Given the description of an element on the screen output the (x, y) to click on. 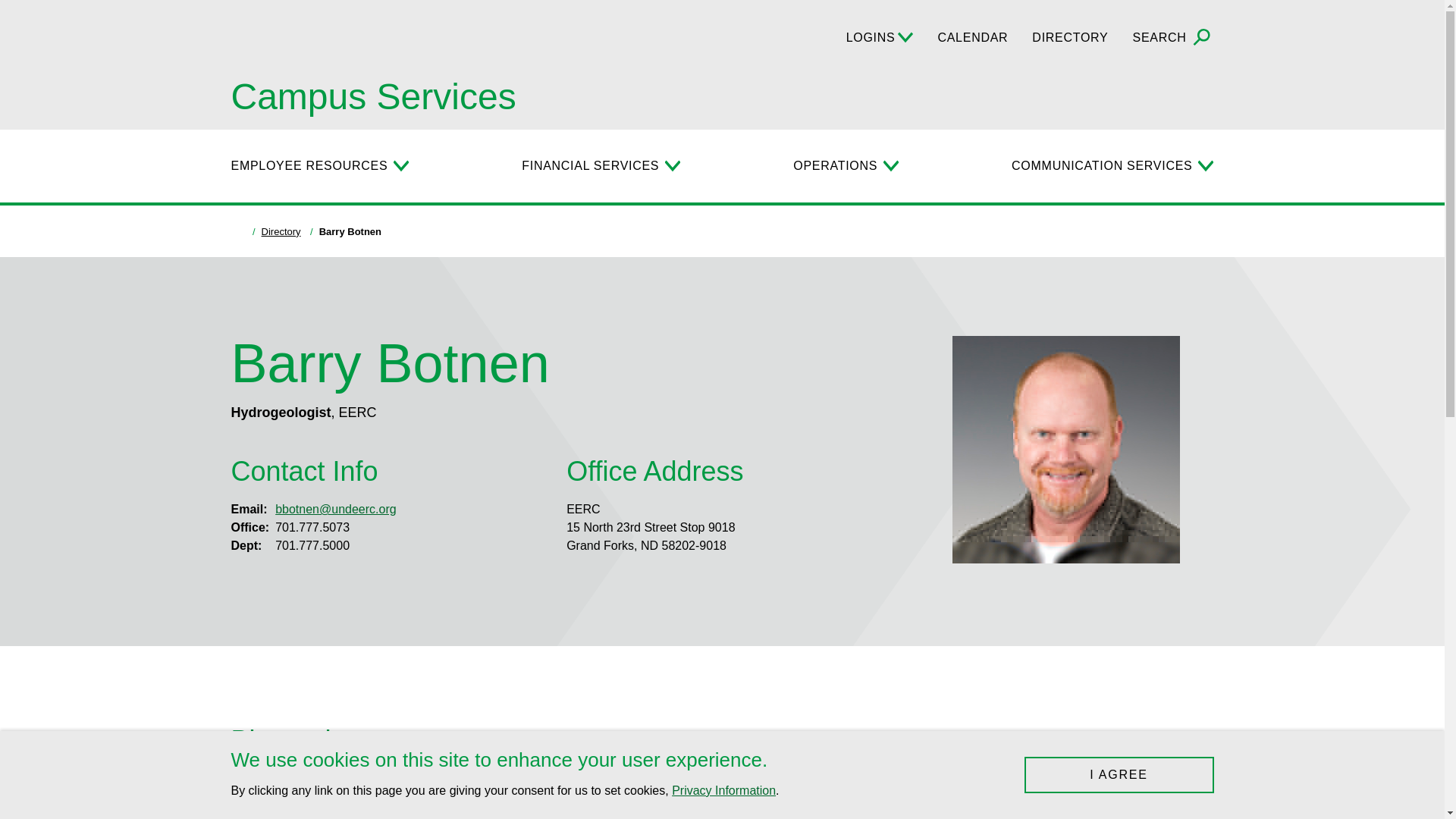
Campus Services (372, 96)
Toggle Menu (672, 165)
SEARCH (1173, 37)
FINANCIAL SERVICES (590, 165)
Toggle Menu (890, 165)
OPERATIONS (835, 165)
EMPLOYEE RESOURCES (308, 165)
CALENDAR (972, 37)
Toggle Menu (401, 165)
DIRECTORY (1070, 37)
